Given the description of an element on the screen output the (x, y) to click on. 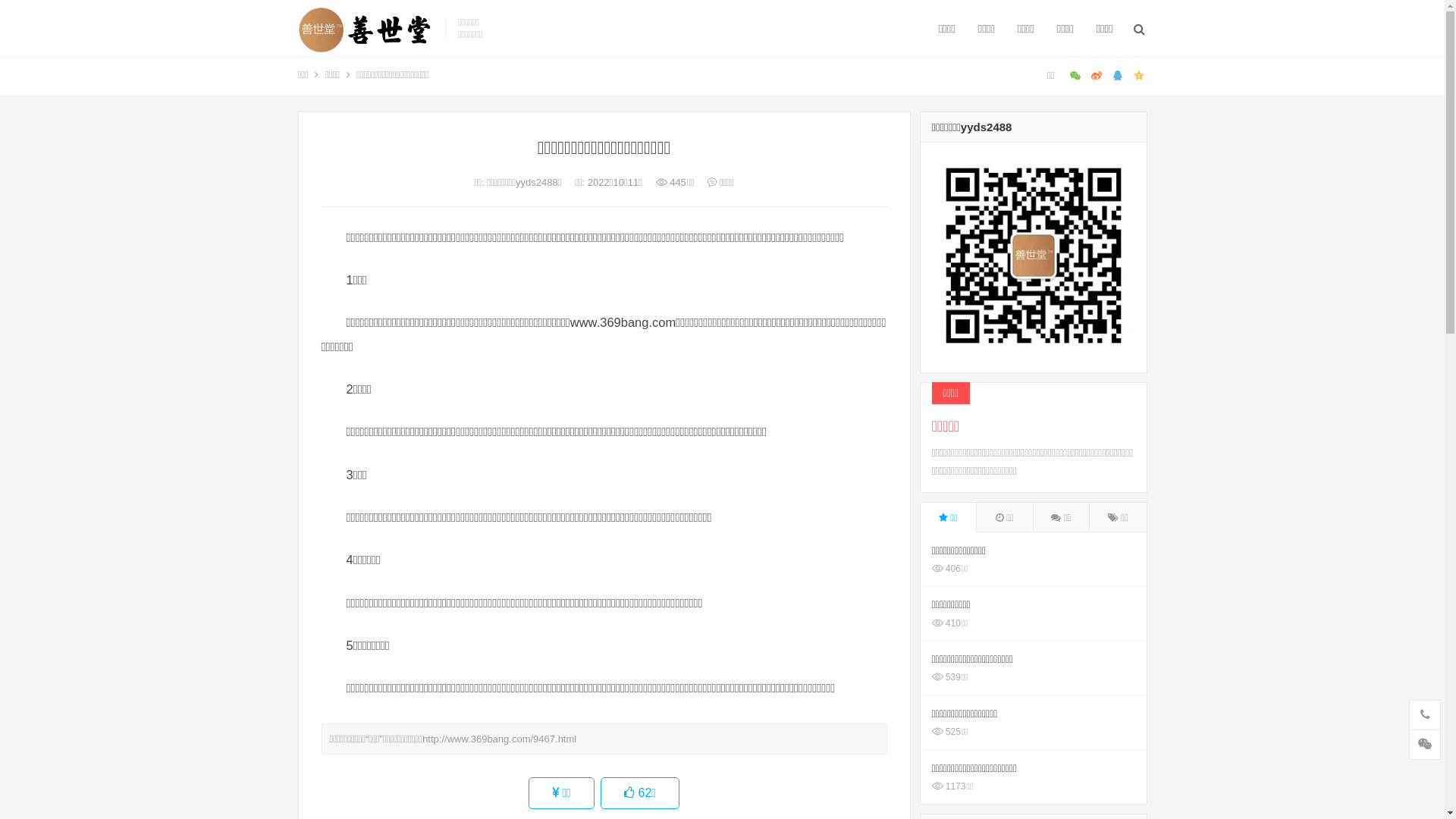
http://www.369bang.com/9467.html Element type: text (499, 738)
